Given the description of an element on the screen output the (x, y) to click on. 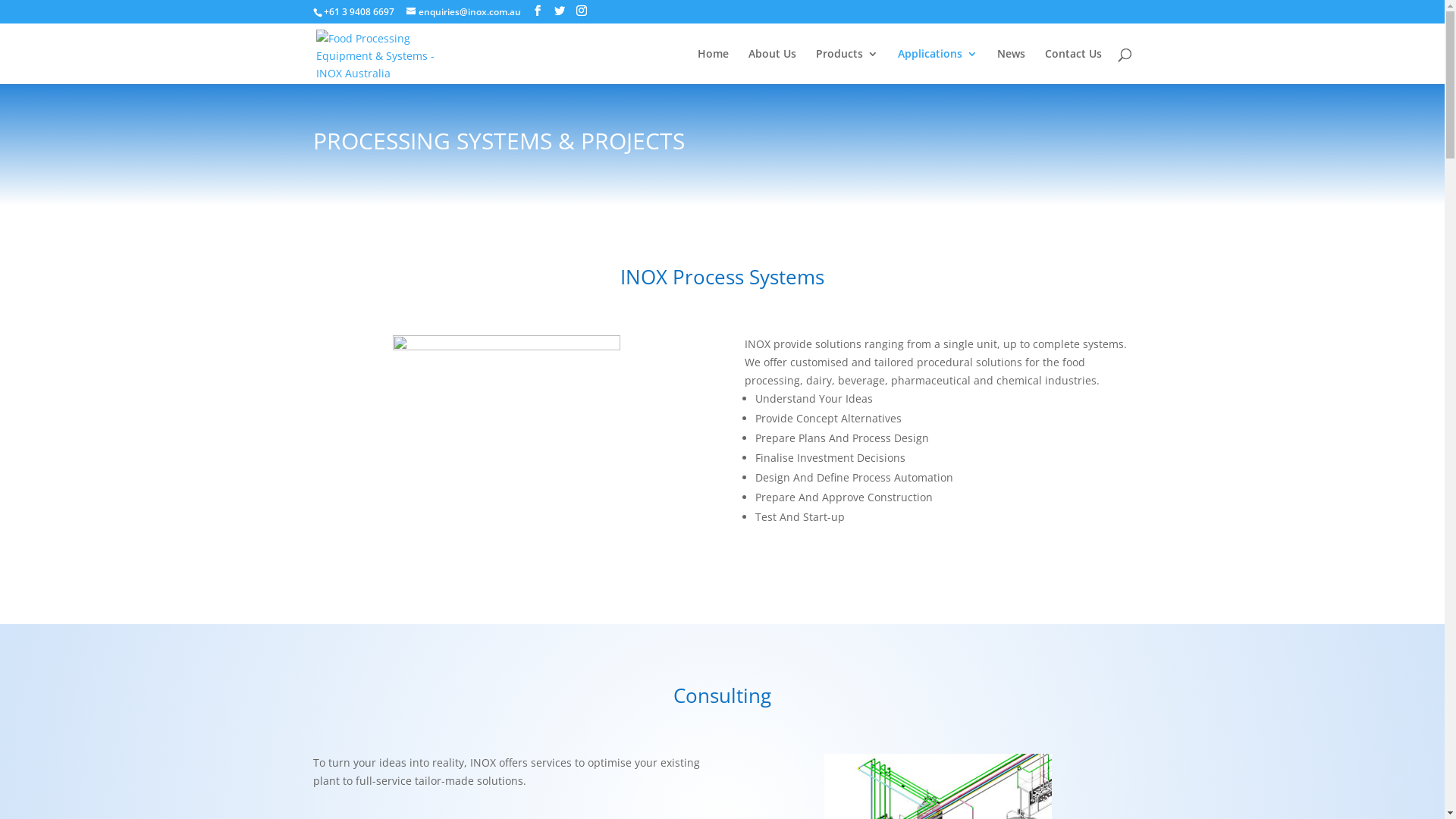
News Element type: text (1010, 66)
About Us Element type: text (771, 66)
enquiries@inox.com.au Element type: text (463, 11)
Products Element type: text (846, 66)
img-processing-1 Element type: hover (506, 448)
Applications Element type: text (937, 66)
Contact Us Element type: text (1072, 66)
Home Element type: text (712, 66)
